Given the description of an element on the screen output the (x, y) to click on. 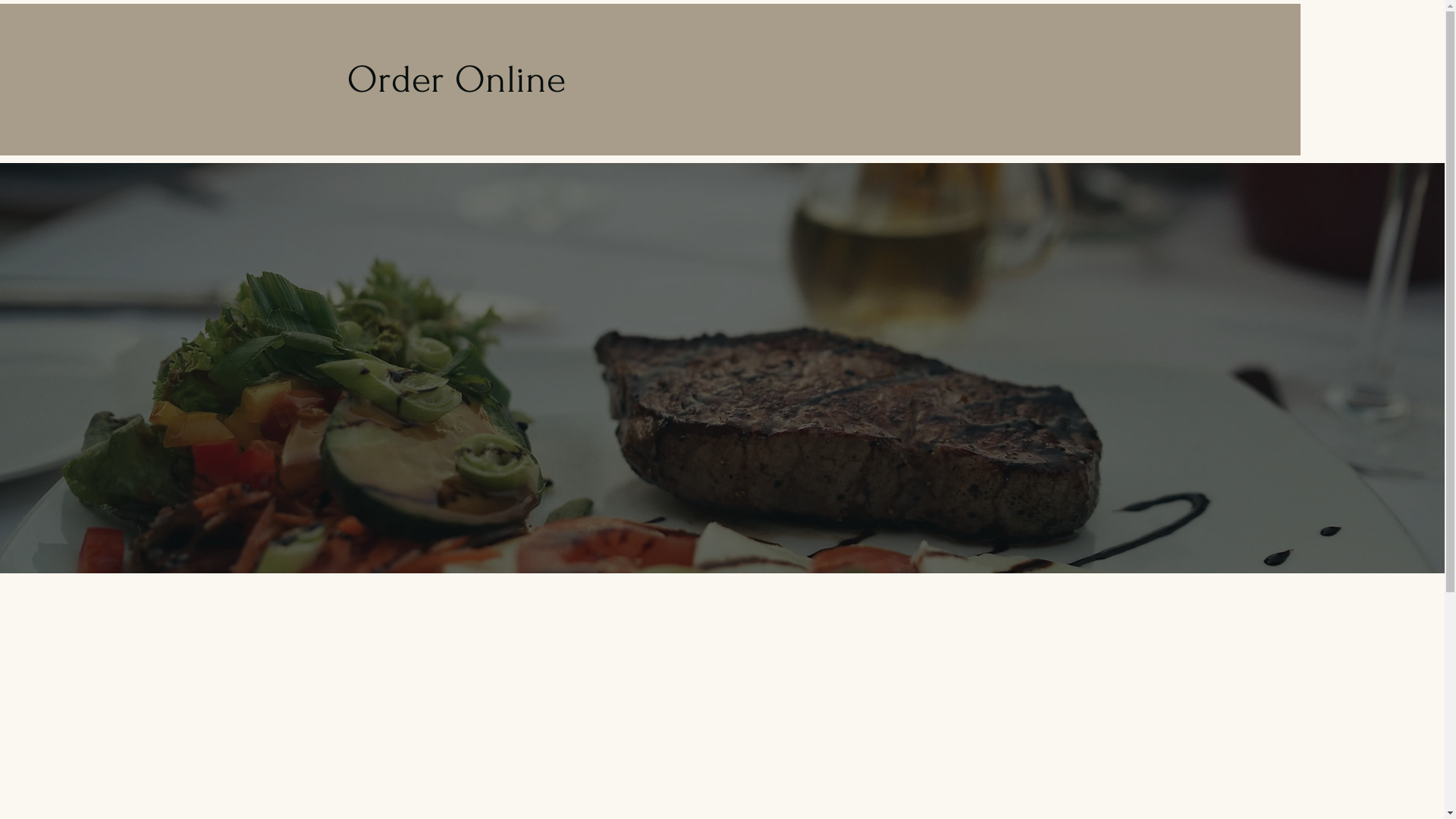
Se connecter Element type: text (1039, 57)
